Given the description of an element on the screen output the (x, y) to click on. 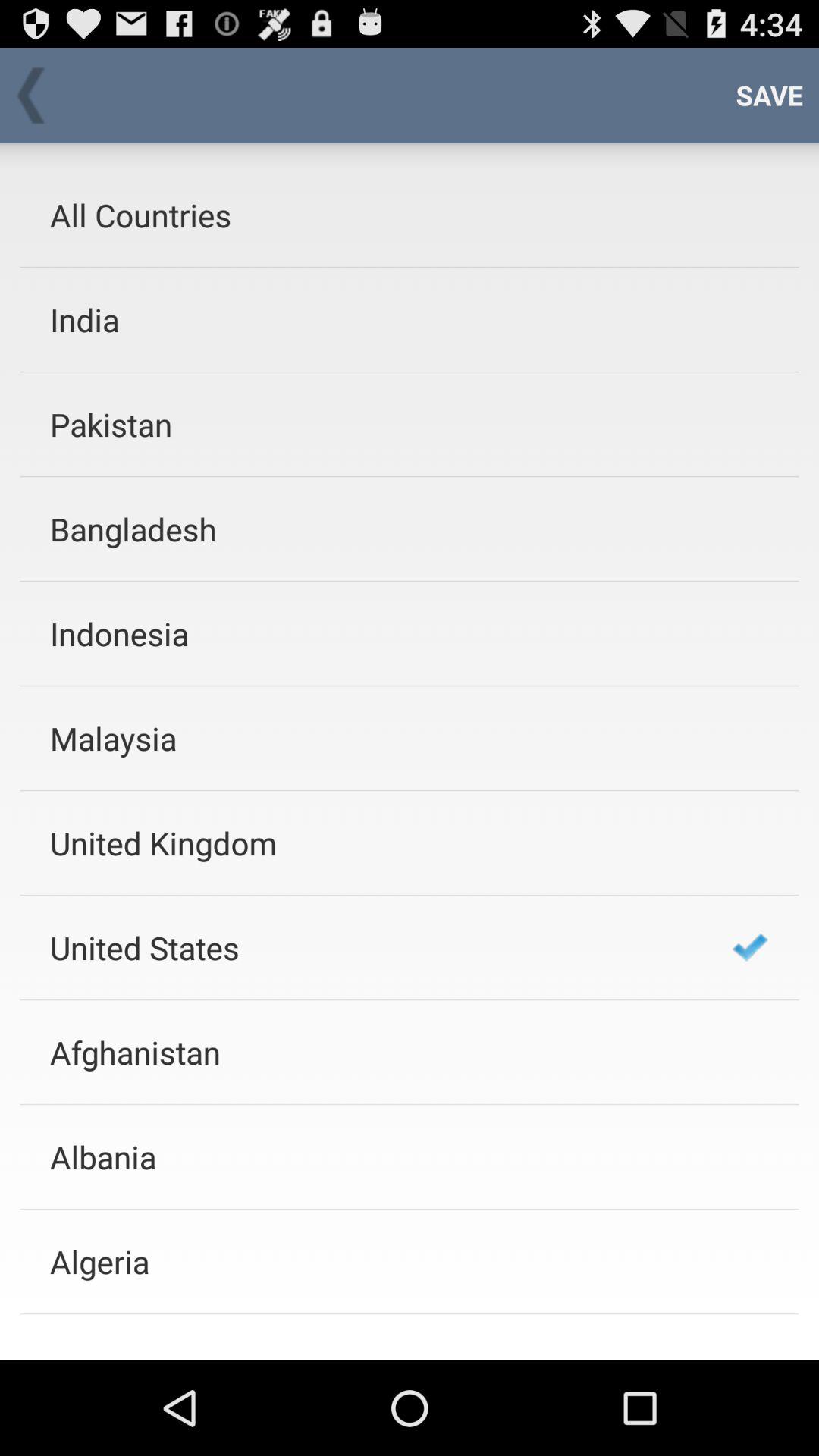
click icon below the united kingdom (371, 947)
